Given the description of an element on the screen output the (x, y) to click on. 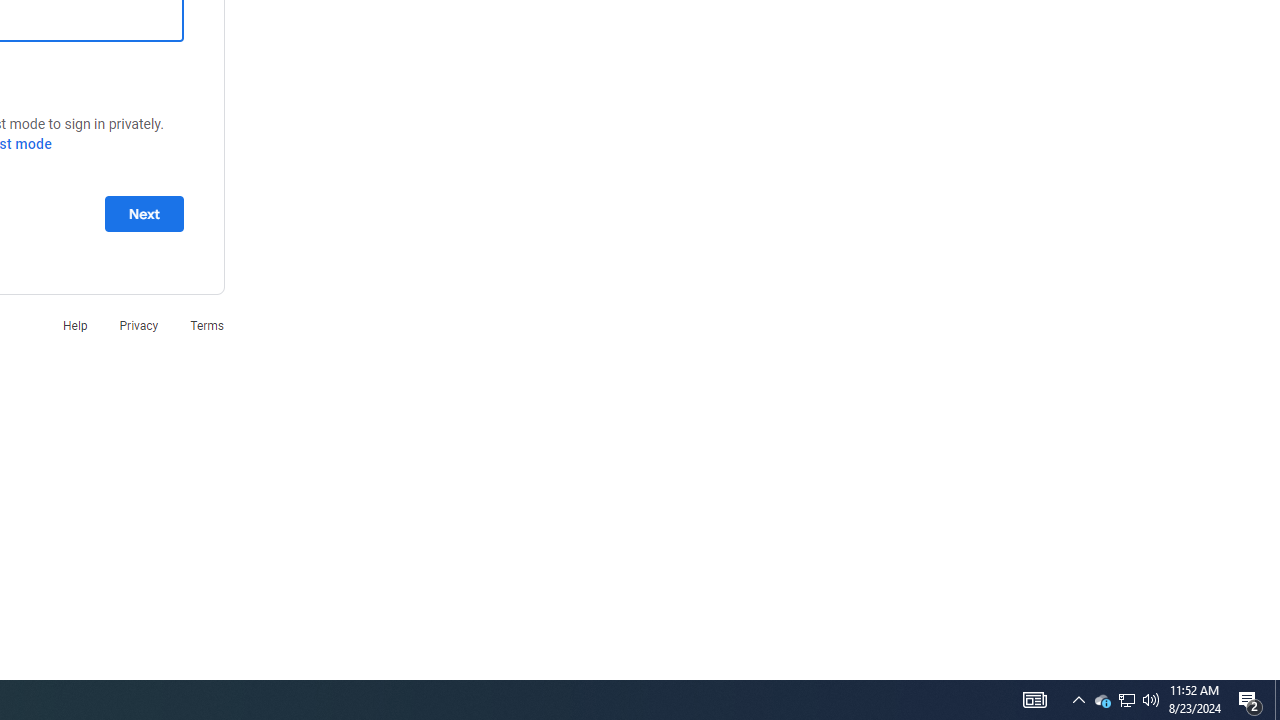
Next (143, 213)
